Given the description of an element on the screen output the (x, y) to click on. 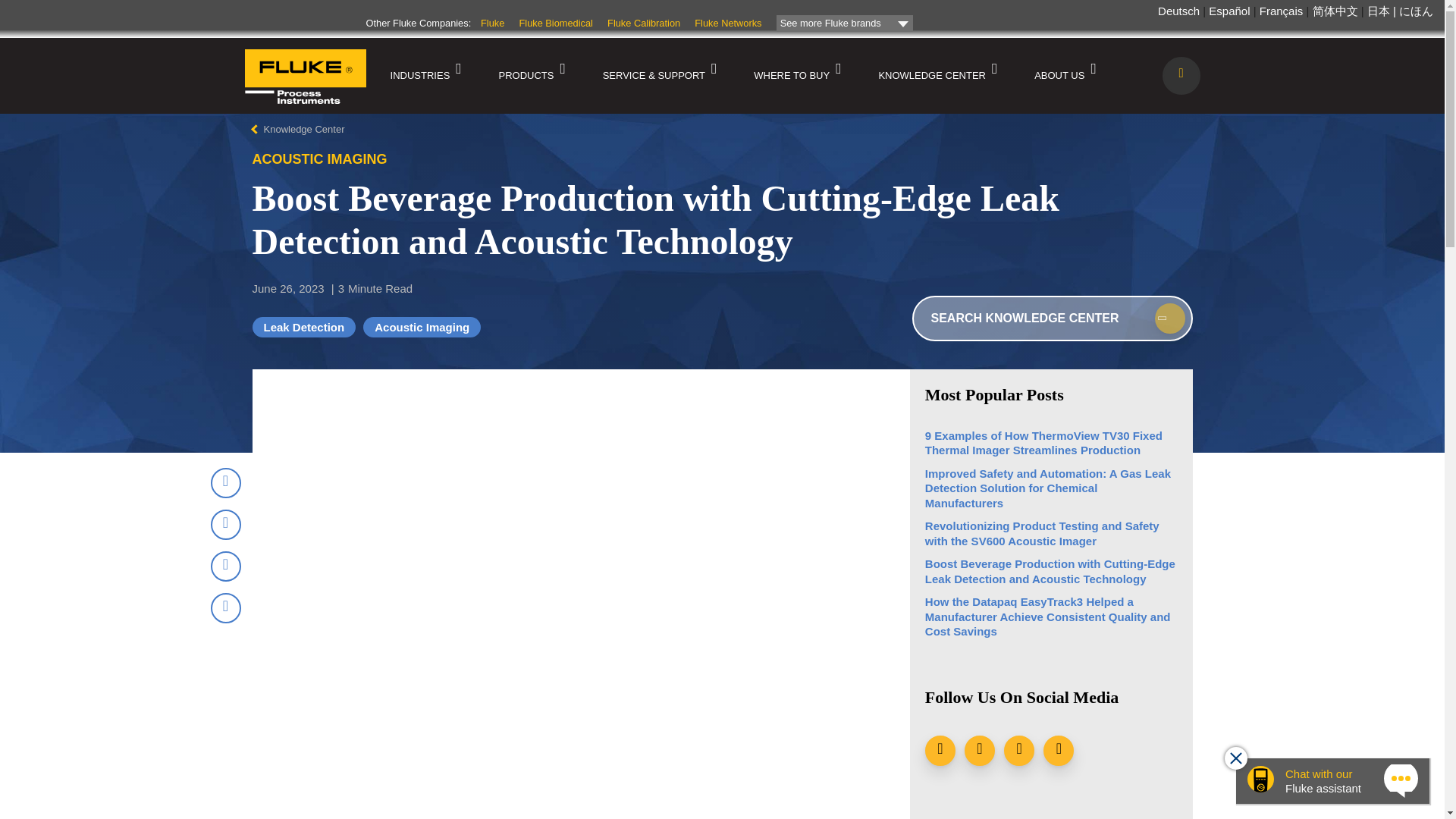
Deutsch (1178, 10)
Home (304, 76)
Fluke Process Instruments (304, 114)
Enter the terms you wish to search for. (1180, 75)
PRODUCTS (526, 75)
Enter the terms you wish to search for. (1051, 318)
Home (304, 114)
Apply (1169, 318)
INDUSTRIES (419, 75)
